Given the description of an element on the screen output the (x, y) to click on. 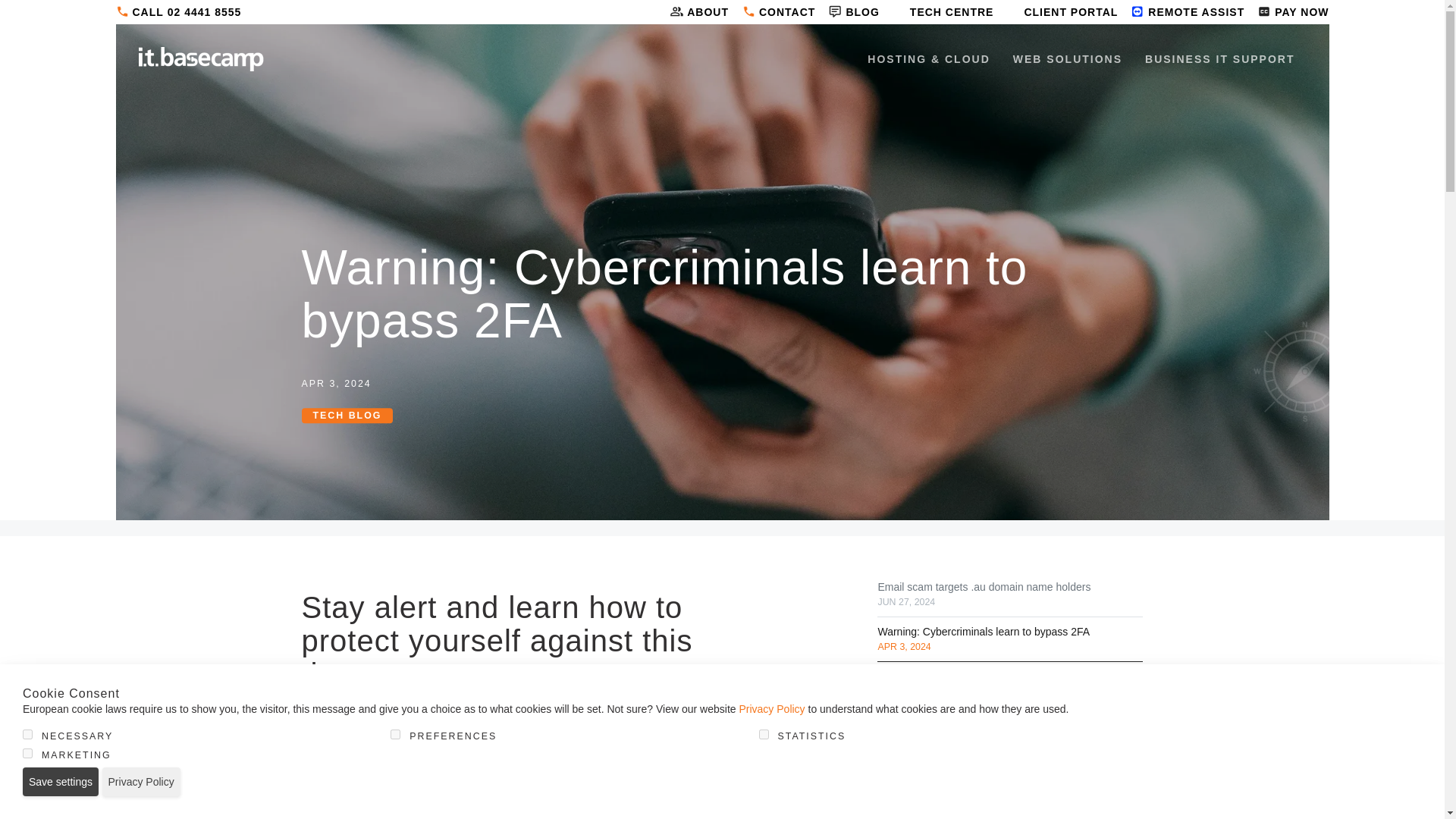
CLIENT PORTAL (1055, 12)
REMOTE ASSIST (1181, 12)
PAY NOW (1285, 12)
CONTACT (772, 12)
marketing (27, 753)
necessary (27, 734)
BUSINESS IT SUPPORT (1220, 59)
statistics (763, 734)
CALL 02 4441 8555 (178, 12)
preferences (395, 734)
BLOG (847, 12)
ABOUT (692, 12)
TECH CENTRE (936, 12)
WEB SOLUTIONS (1067, 59)
